Given the description of an element on the screen output the (x, y) to click on. 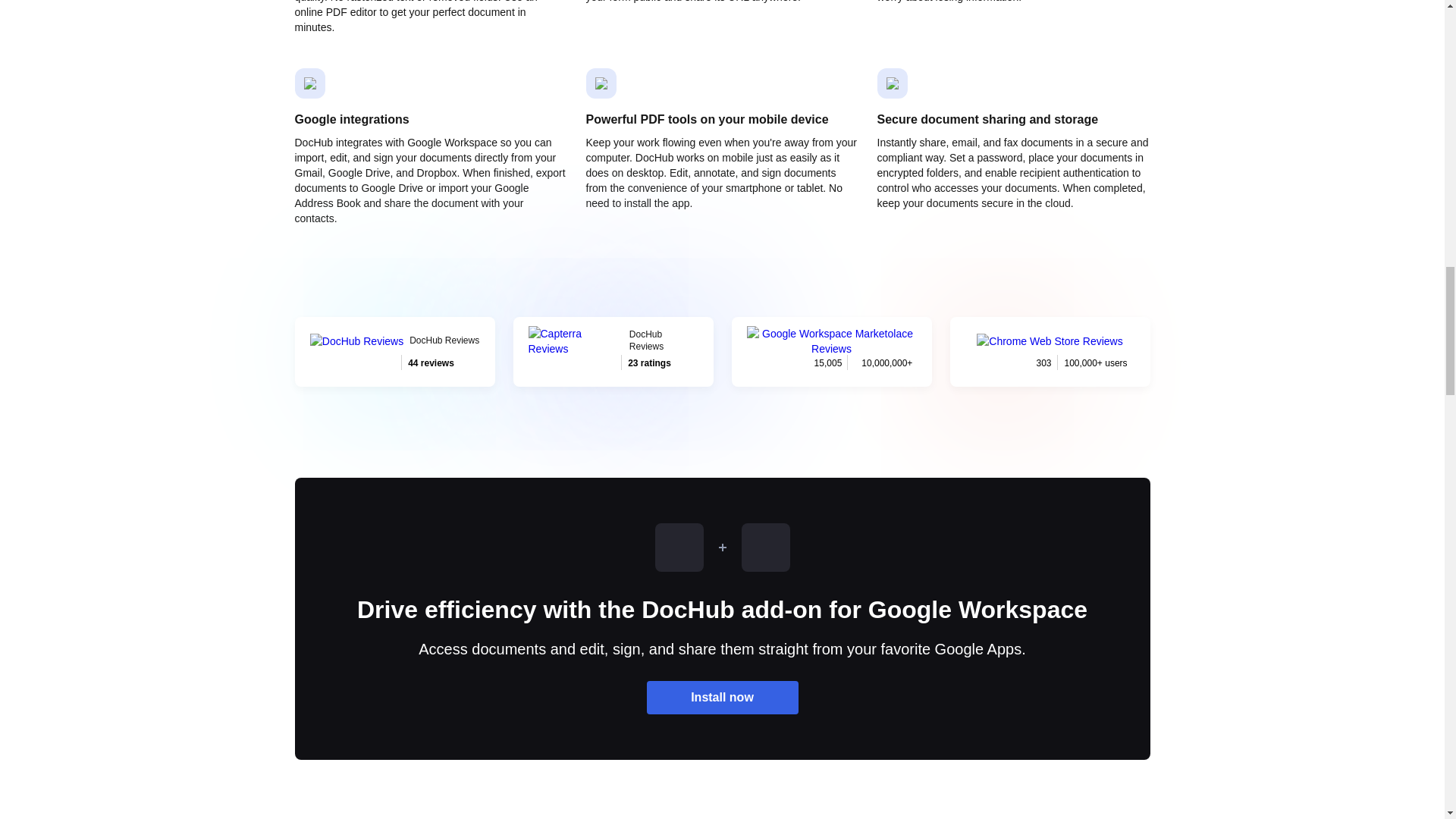
Install now (394, 351)
